Given the description of an element on the screen output the (x, y) to click on. 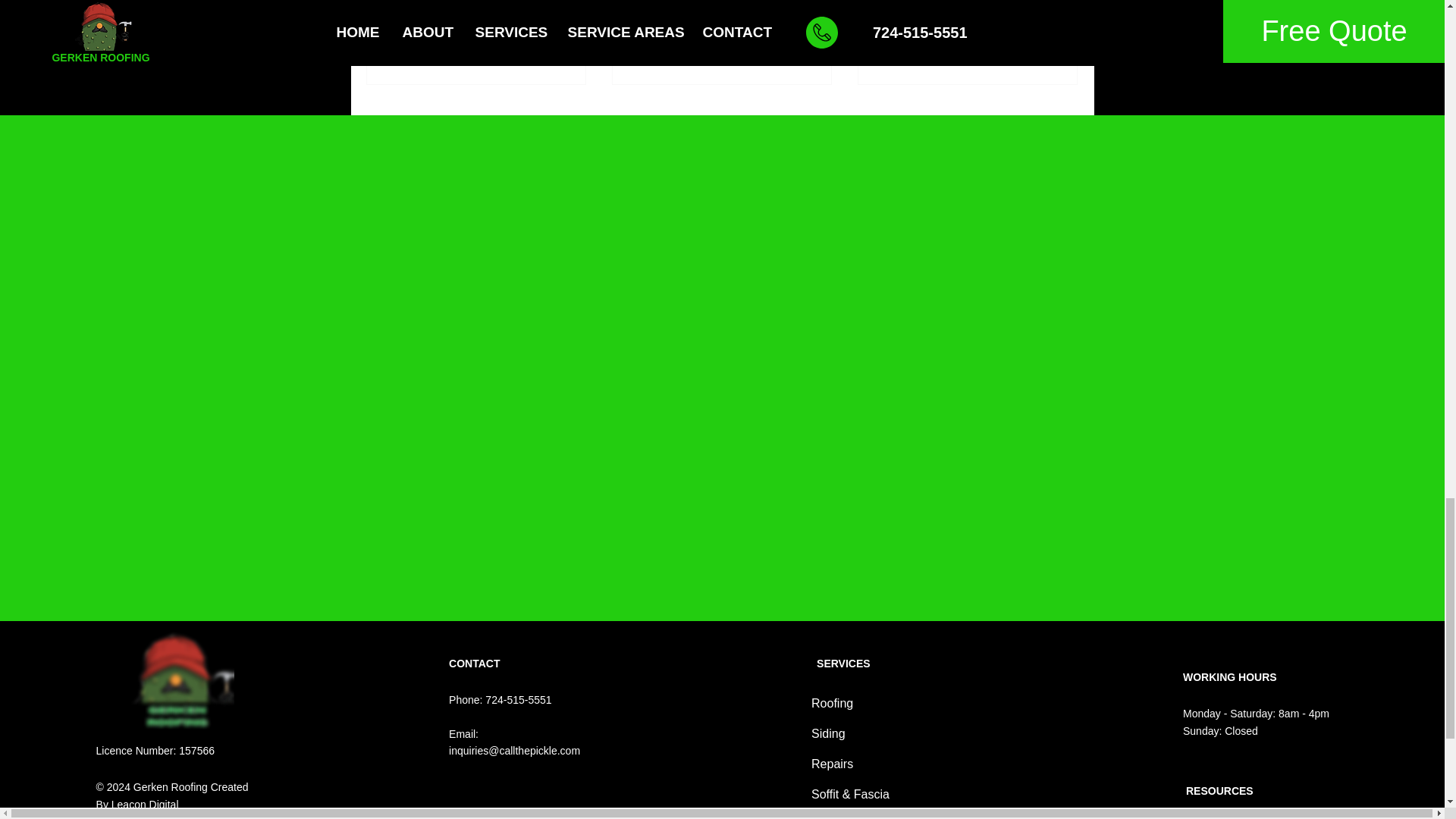
Gerken Roofing (397, 59)
Post not marked as liked (178, 678)
Post not marked as liked (637, 59)
Winter Roof Maintenance Tips (883, 59)
Leacon Digital (967, 11)
Navigating Roof Damage After a Hail Storm (145, 804)
